Given the description of an element on the screen output the (x, y) to click on. 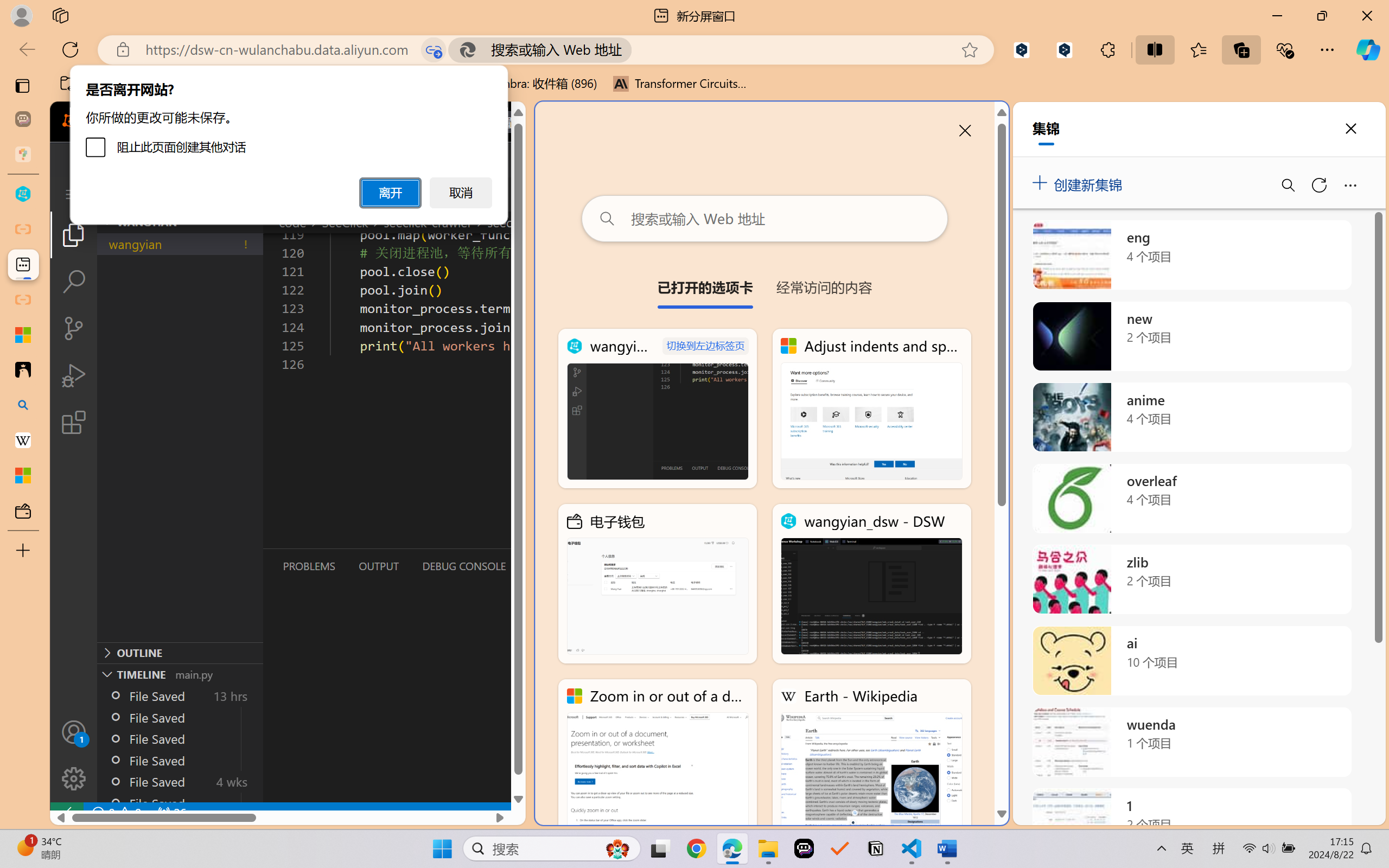
Google Chrome (696, 848)
Earth - Wikipedia (871, 758)
Extensions (Ctrl+Shift+X) (73, 422)
Transformer Circuits Thread (680, 83)
Adjust indents and spacing - Microsoft Support (871, 408)
